Given the description of an element on the screen output the (x, y) to click on. 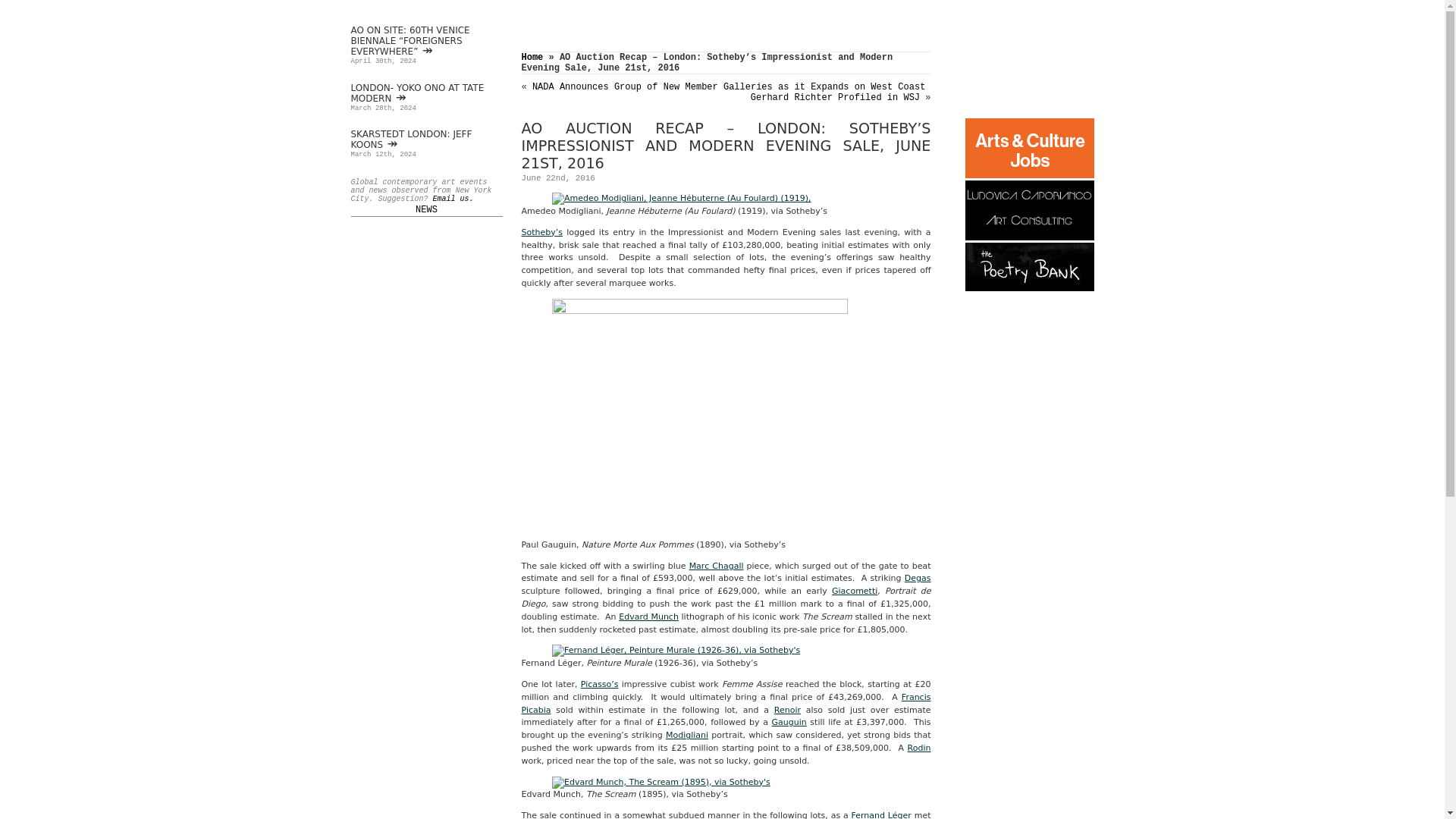
Home (532, 57)
Permanent Link to Skarstedt London: Jeff Koons (410, 138)
Renoir (787, 709)
Giacometti (854, 591)
Alberto Giacometti - Art Observed (854, 591)
Modigliani (686, 735)
Sotheby's - Art Observed (541, 232)
Rodin (919, 747)
Francis Picabia (725, 703)
Marc Chagall - Art Observed (716, 565)
Edvard Munch - Art Observed (648, 616)
Pablo Picasso - Art Observed (599, 684)
Gauguin (788, 722)
SKARSTEDT LONDON: JEFF KOONS (410, 138)
Gerhard Richter Profiled in WSJ (835, 97)
